Given the description of an element on the screen output the (x, y) to click on. 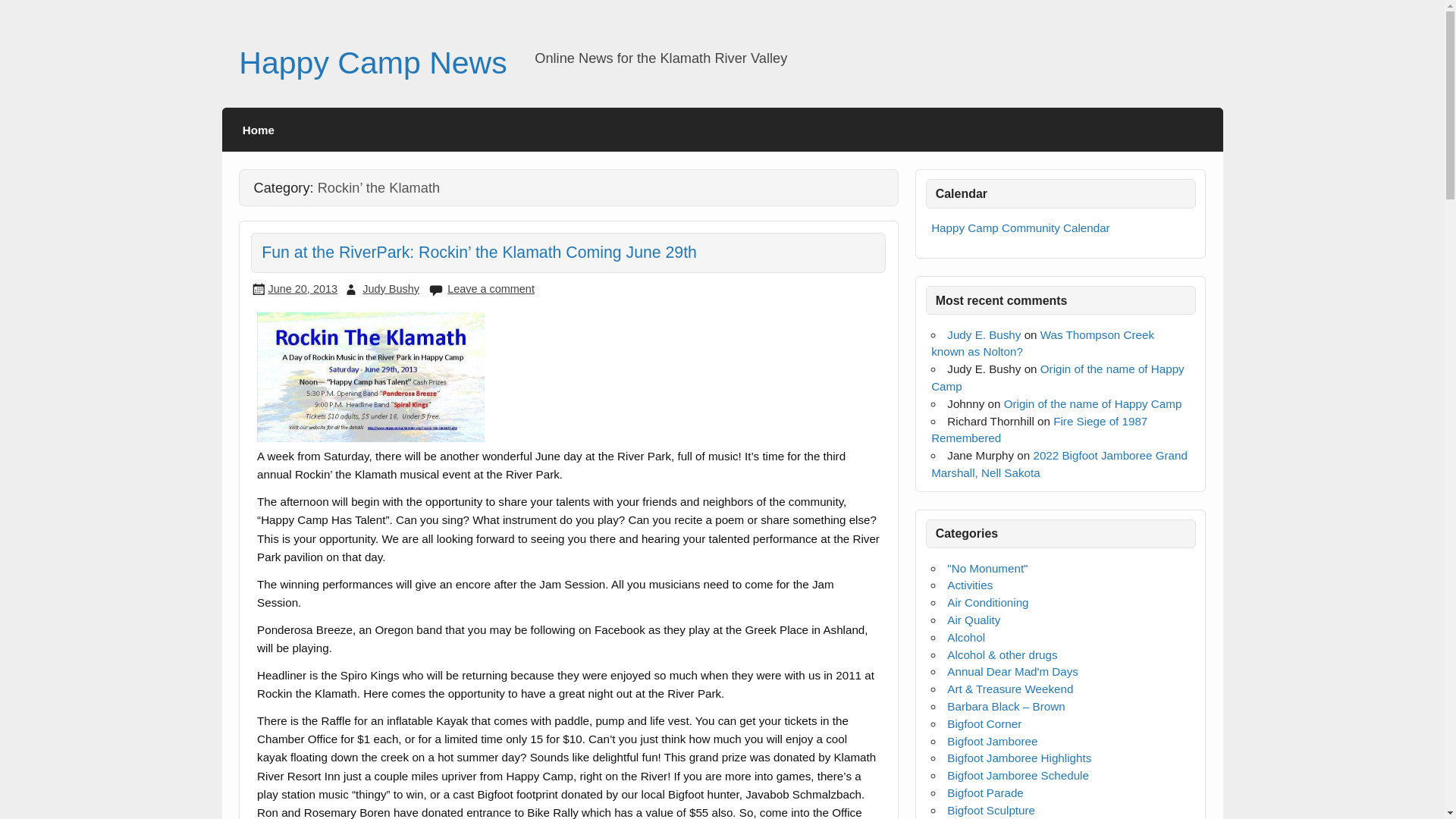
Air Quality (973, 619)
"No Monument" (987, 567)
2022 Bigfoot Jamboree Grand Marshall, Nell Sakota (1059, 463)
Judy E. Bushy (983, 334)
Leave a comment (490, 288)
Home (259, 129)
Was Thompson Creek known as Nolton? (1042, 343)
Judy Bushy (390, 288)
Origin of the name of Happy Camp (1058, 377)
Fire Siege of 1987 Remembered (1039, 429)
Air Conditioning (987, 602)
Bigfoot Corner (984, 723)
Origin of the name of Happy Camp (1093, 403)
June 20, 2013 (302, 288)
Happy Camp News (372, 62)
